Given the description of an element on the screen output the (x, y) to click on. 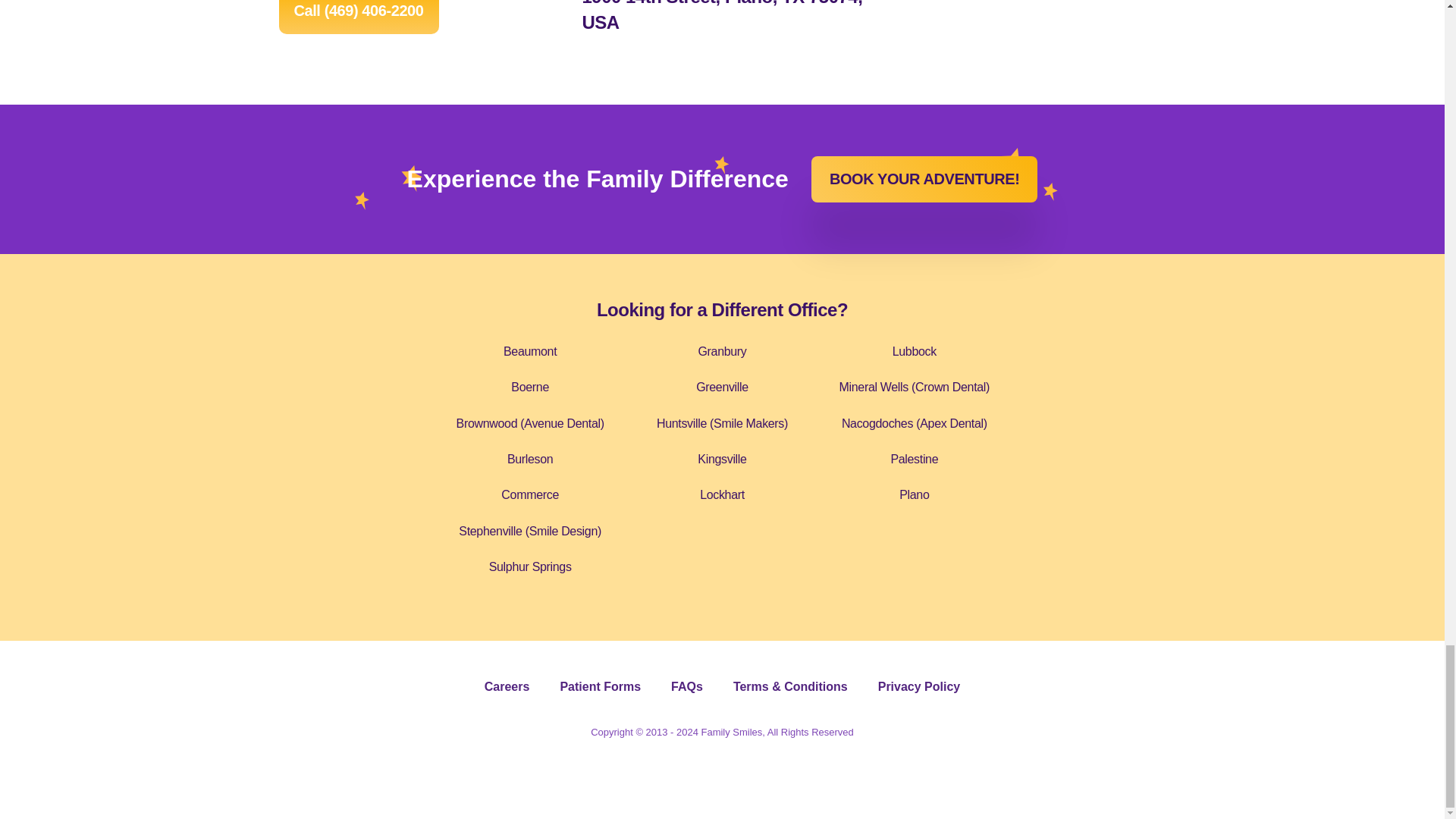
Sulphur Springs (530, 566)
Kingsville (721, 459)
Lubbock (914, 350)
Lockhart (722, 494)
Greenville (721, 386)
Commerce (529, 494)
Beaumont (529, 350)
Palestine (913, 459)
Plano (913, 494)
Boerne (529, 386)
Careers (506, 686)
BOOK YOUR ADVENTURE! (924, 179)
Granbury (721, 350)
Burleson (529, 459)
Patient Forms (599, 686)
